Given the description of an element on the screen output the (x, y) to click on. 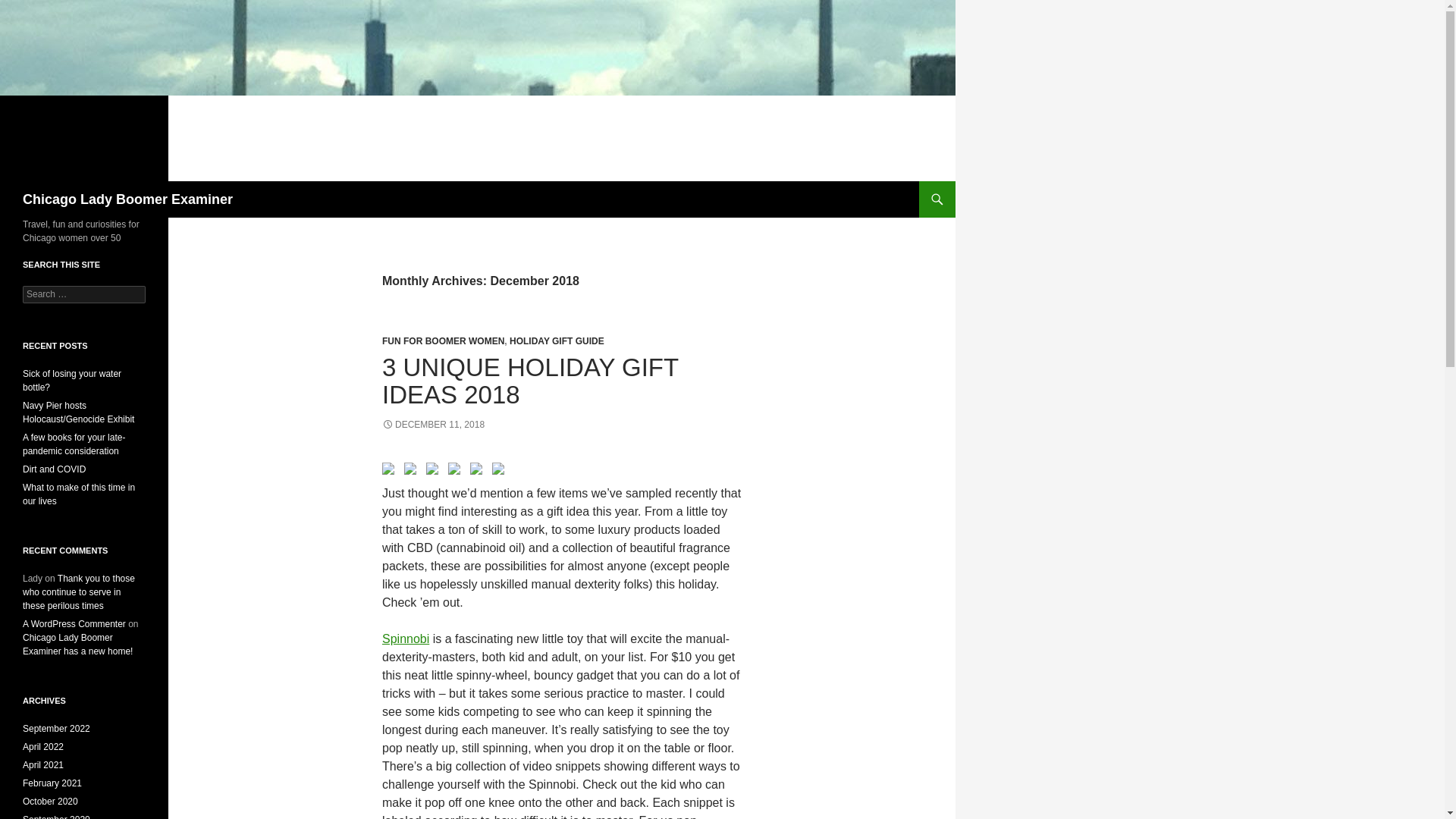
Share on Reddit (435, 471)
Share on Facebook (387, 468)
Share on Facebook (390, 471)
Chicago Lady Boomer Examiner (127, 198)
Share on Linkedin (475, 468)
Share by email (497, 468)
Pin it with Pinterest (456, 471)
Share on Twitter (413, 471)
Search (30, 8)
HOLIDAY GIFT GUIDE (556, 340)
